Given the description of an element on the screen output the (x, y) to click on. 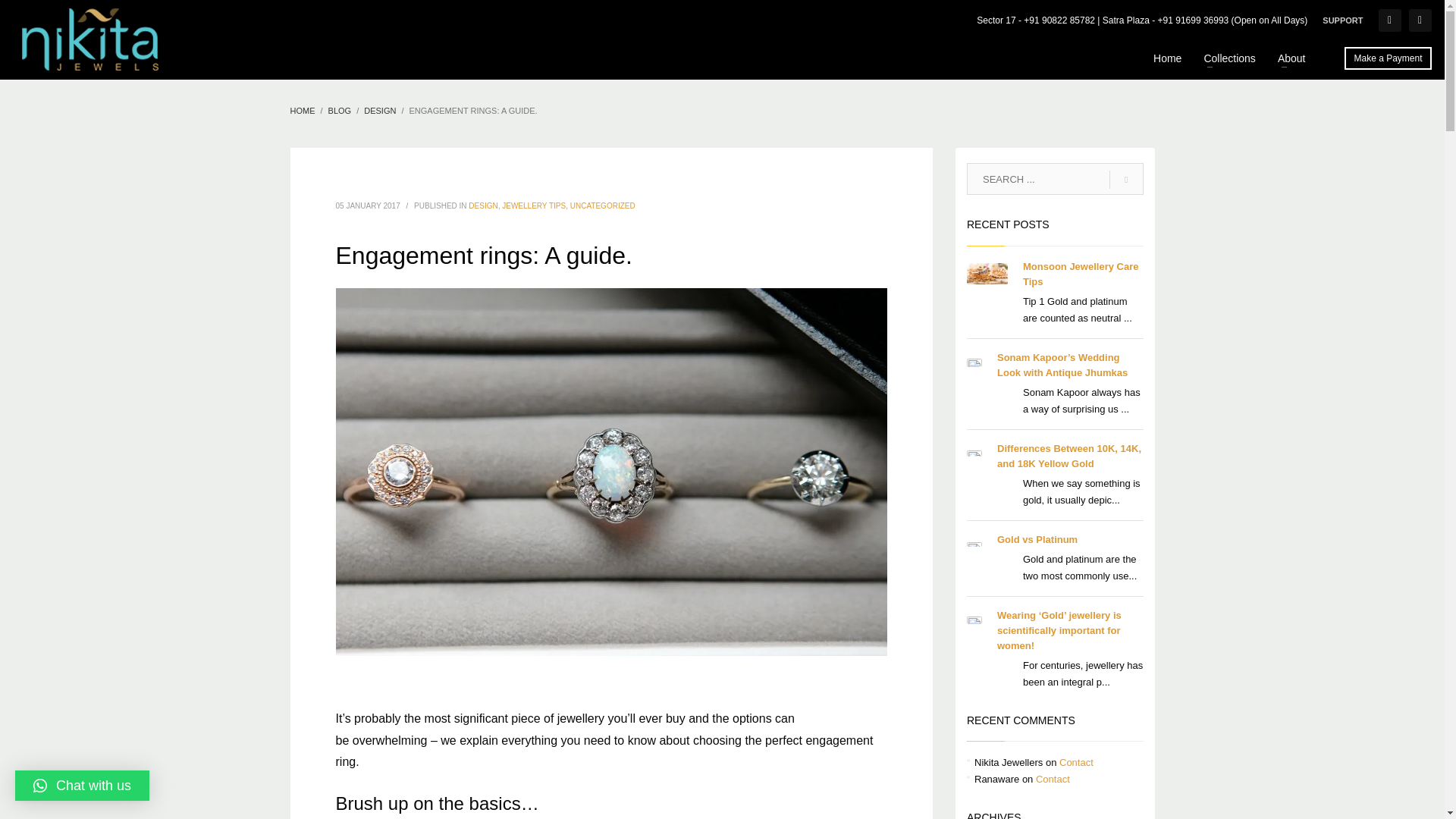
SUPPORT (1342, 20)
HOME (301, 110)
Monsoon Jewellery Care Tips (1080, 274)
Saved for Later (1389, 20)
DESIGN (380, 110)
Make a Payment (1387, 57)
UNCATEGORIZED (602, 205)
Home (1167, 57)
BLOG (340, 110)
Blog (340, 110)
